Given the description of an element on the screen output the (x, y) to click on. 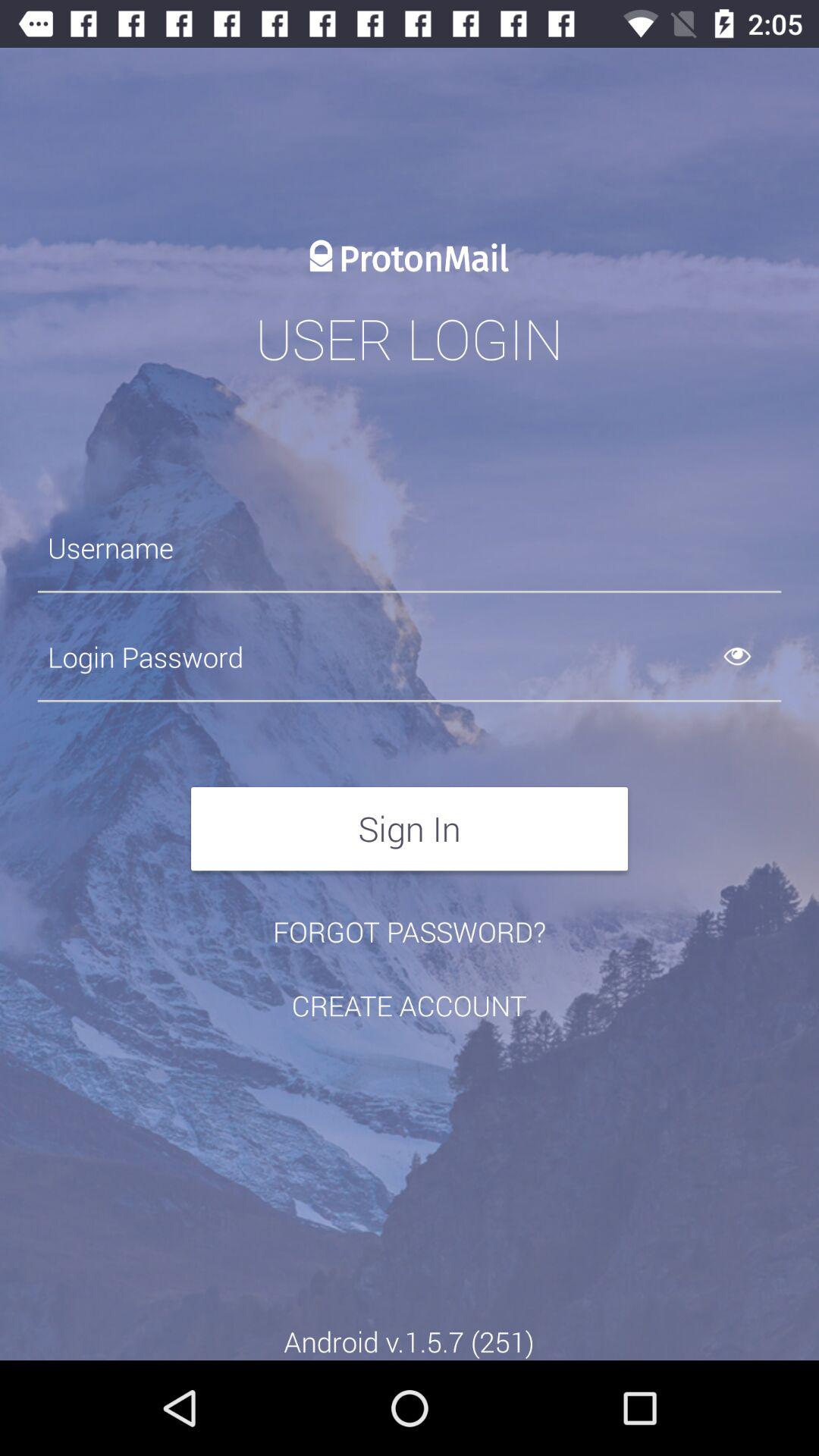
password field (409, 656)
